Given the description of an element on the screen output the (x, y) to click on. 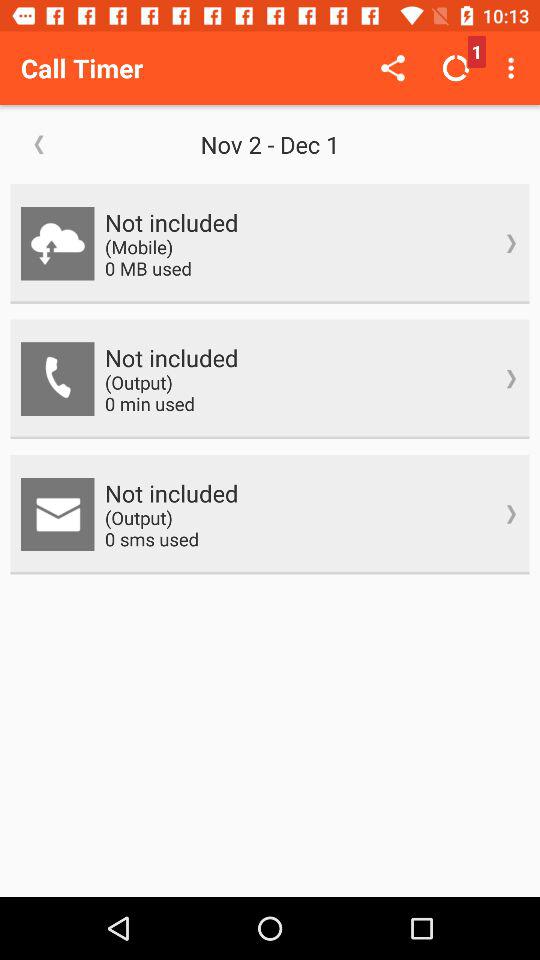
turn on the icon next to 1 icon (513, 67)
